Given the description of an element on the screen output the (x, y) to click on. 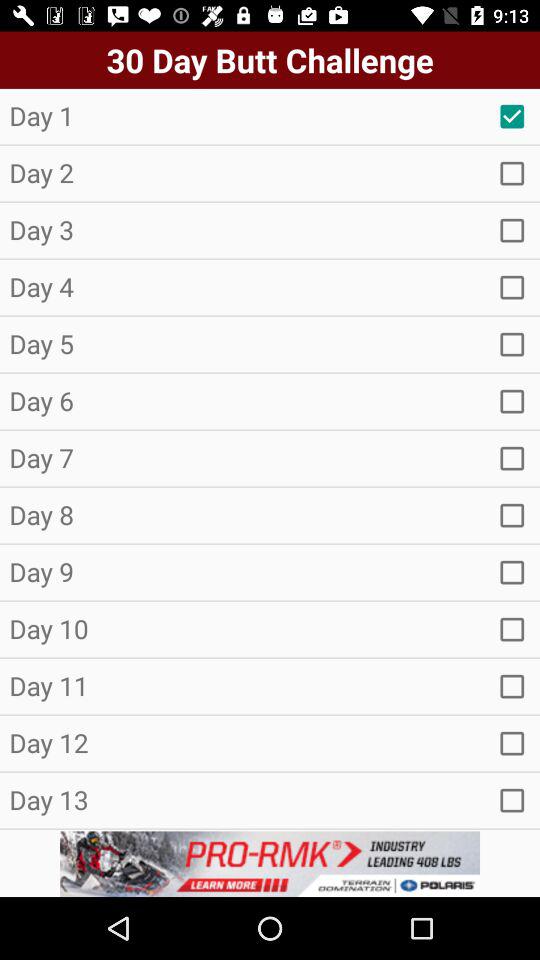
select option (512, 401)
